Given the description of an element on the screen output the (x, y) to click on. 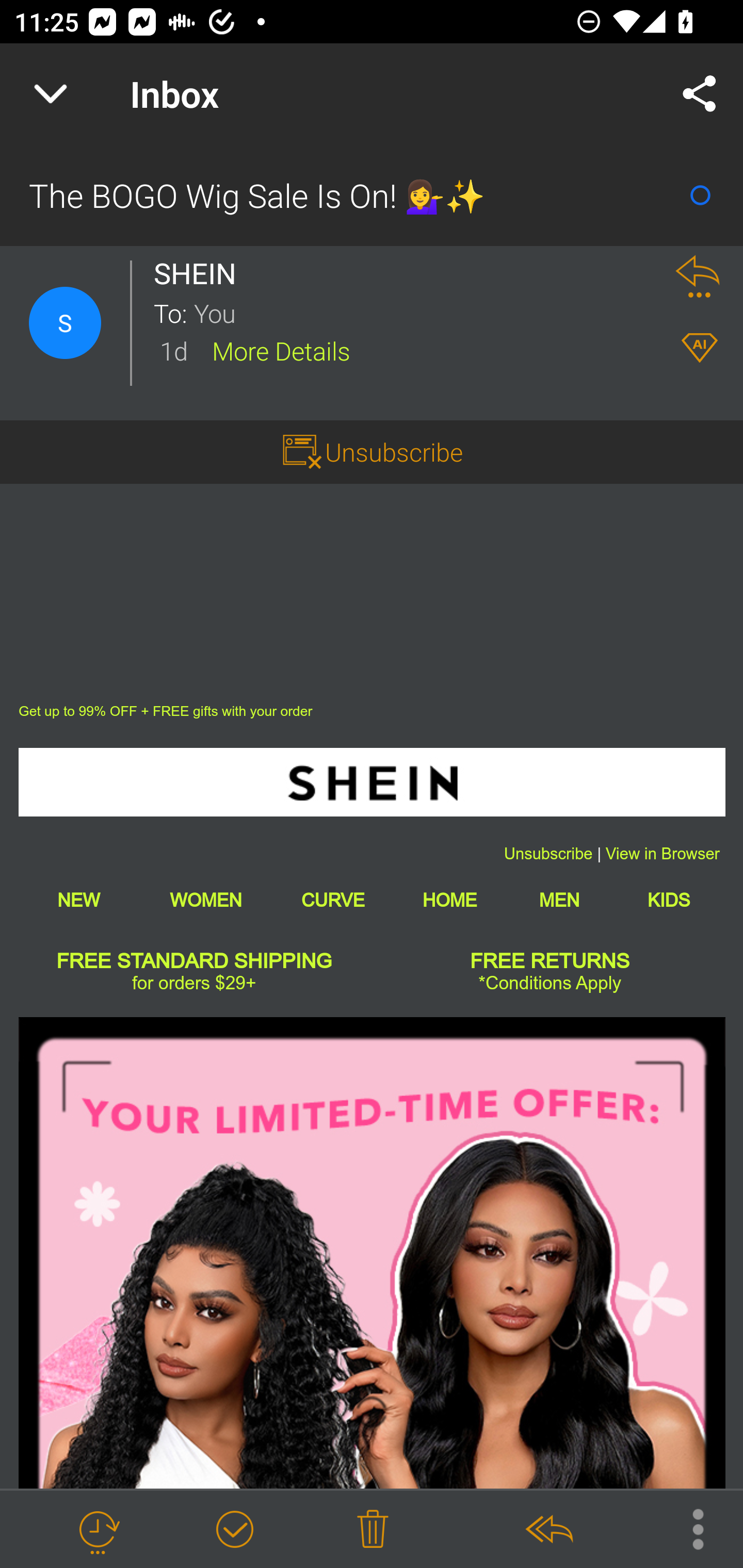
Navigate up (50, 93)
Share (699, 93)
Mark as Read (699, 194)
SHEIN (200, 273)
Contact Details (64, 322)
You (422, 311)
More Details (280, 349)
Unsubscribe (393, 451)
Get up to 99% OFF + FREE gifts with your order (165, 710)
SHEIN (371, 781)
Unsubscribe (547, 854)
View in Browser (661, 854)
NEW (78, 900)
WOMEN (205, 900)
CURVE (332, 900)
HOME (449, 900)
MEN (559, 900)
KIDS (668, 900)
FREE STANDARD SHIPPING (194, 962)
FREE RETURNS (549, 962)
for orders $29+ (193, 983)
*Conditions Apply (549, 983)
SHOP THE SALE (371, 1252)
Snooze (97, 1529)
Mark as Done (234, 1529)
Delete (372, 1529)
Reply All (548, 1529)
